Given the description of an element on the screen output the (x, y) to click on. 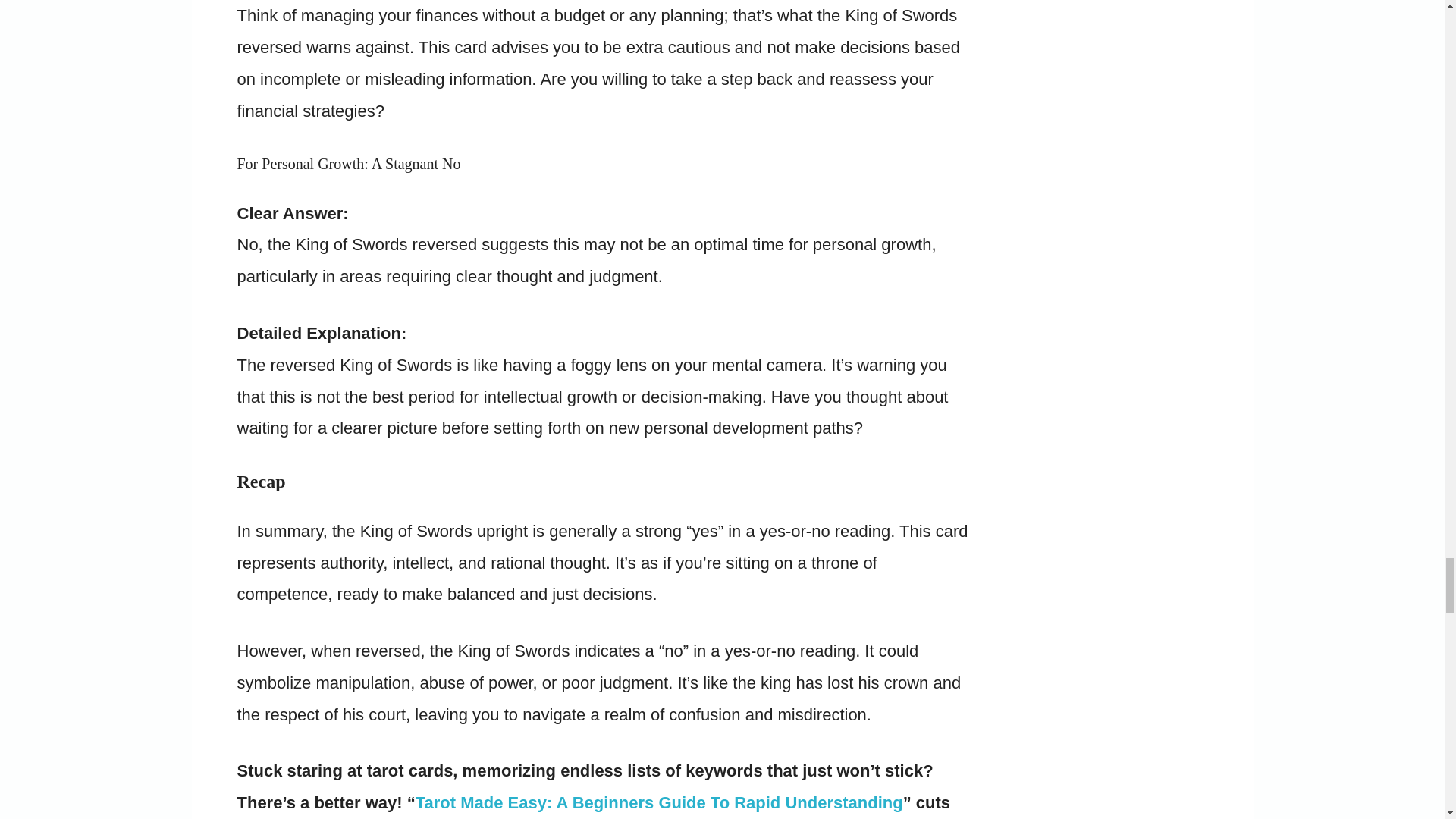
Tarot Made Easy: A Beginners Guide To Rapid Understanding (658, 802)
